Given the description of an element on the screen output the (x, y) to click on. 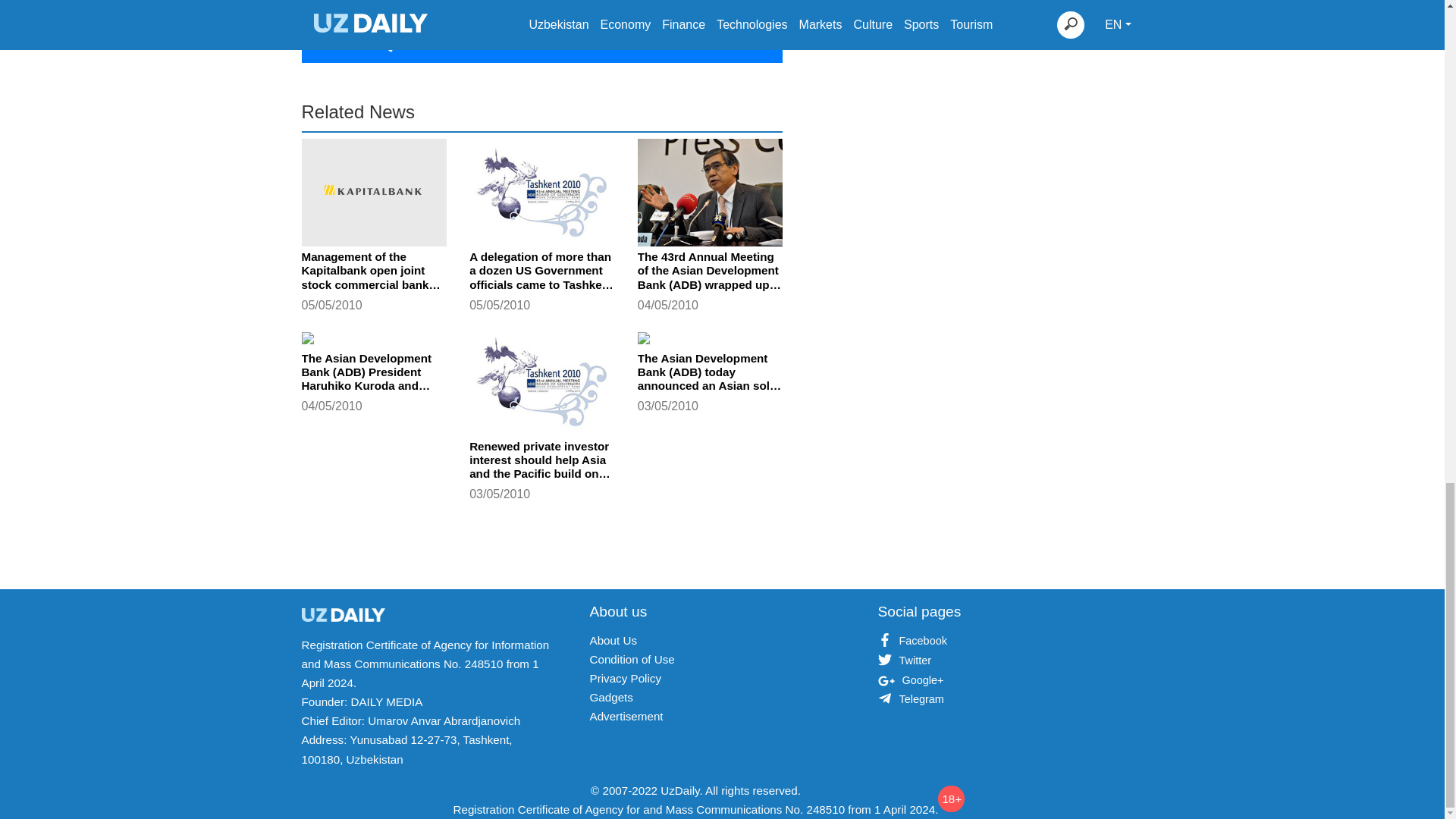
Subscribe to our Telegram channel! (542, 38)
